Given the description of an element on the screen output the (x, y) to click on. 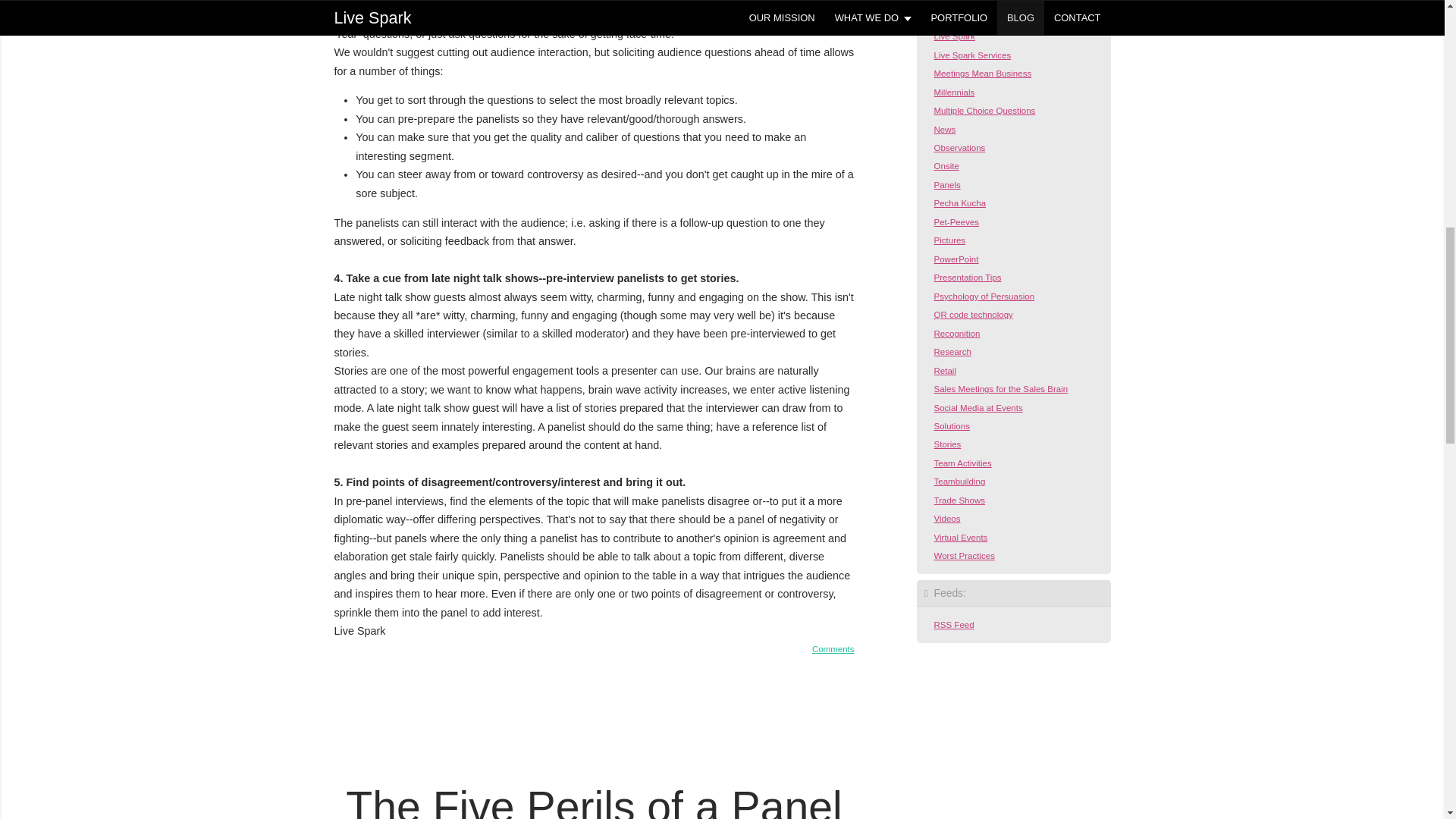
Comments (833, 648)
RSS Feed (949, 624)
